Given the description of an element on the screen output the (x, y) to click on. 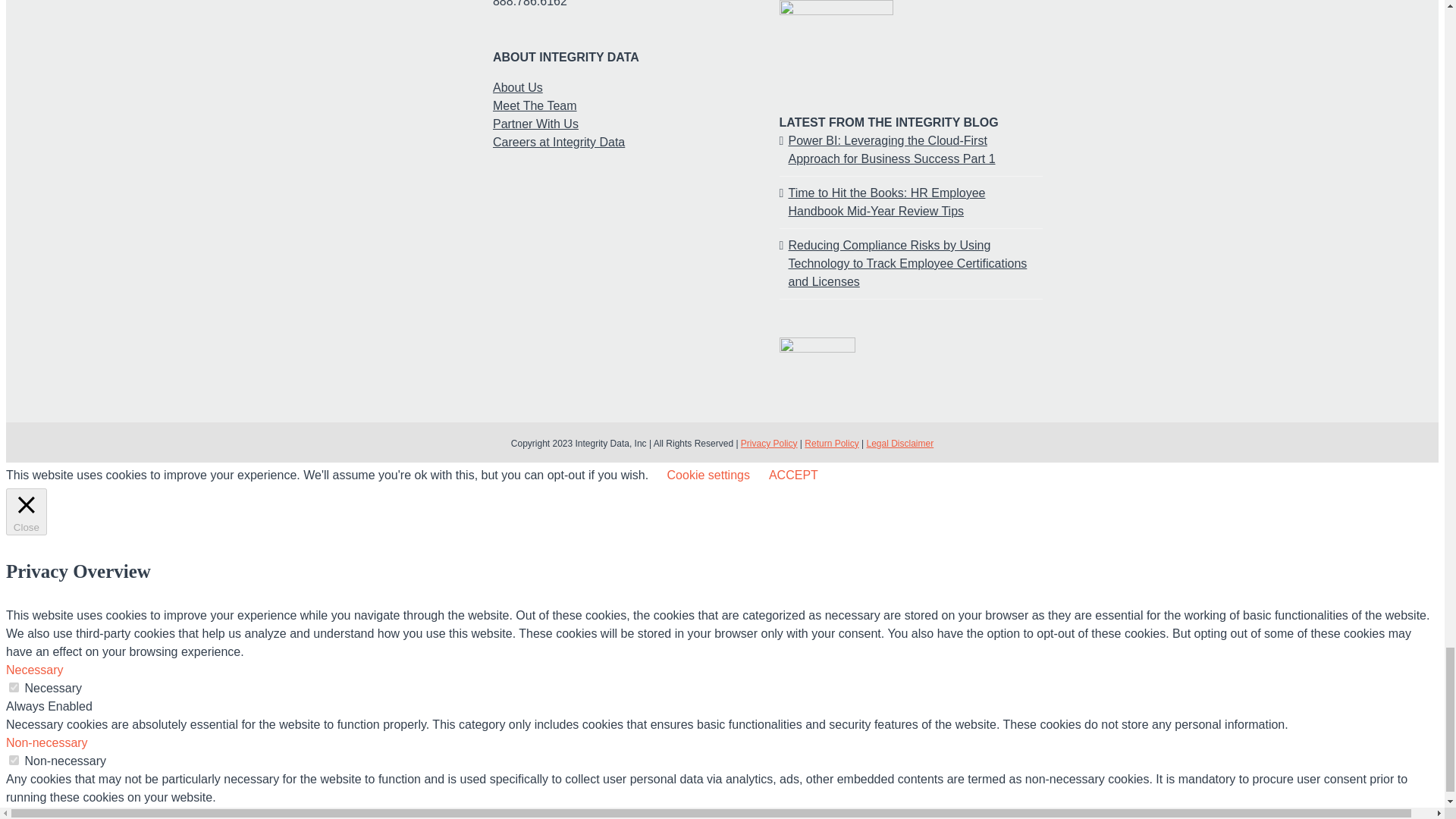
on (13, 687)
on (13, 759)
Legal Disclaimer (899, 443)
Return Policy (832, 443)
Privacy Policy (769, 443)
